Given the description of an element on the screen output the (x, y) to click on. 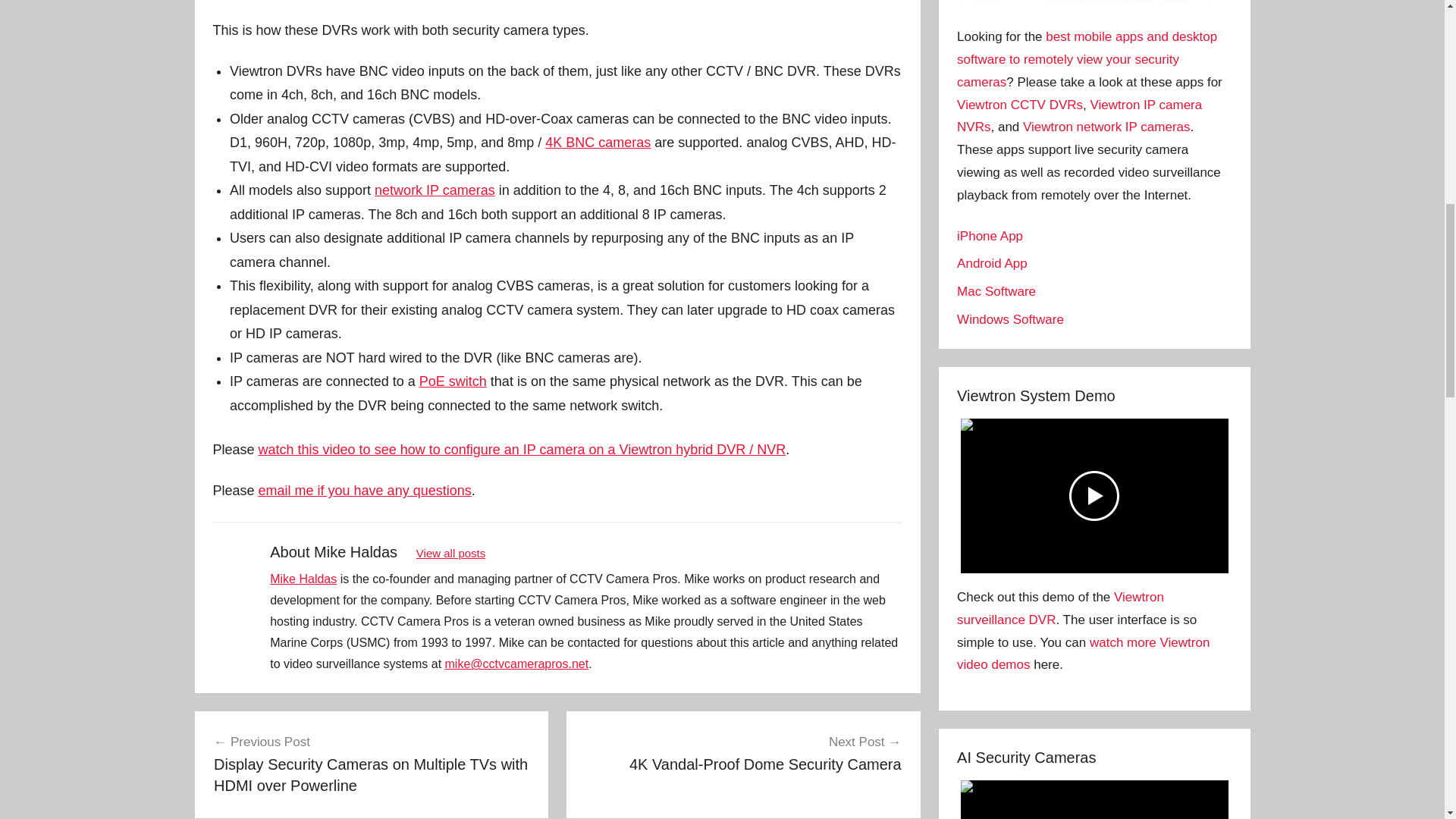
PoE switch (452, 381)
network IP cameras (434, 190)
4K BNC cameras (597, 142)
